Given the description of an element on the screen output the (x, y) to click on. 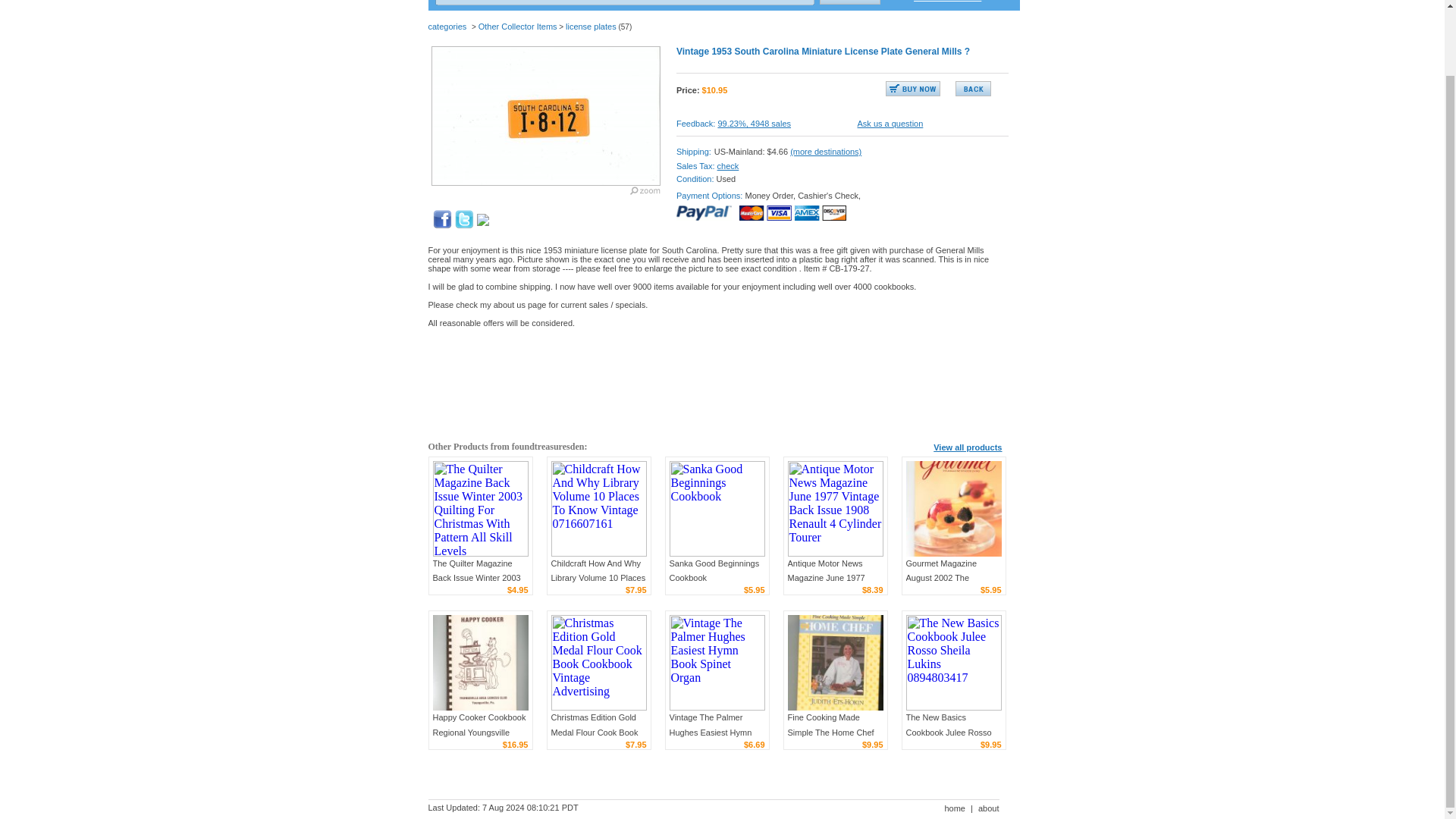
advanced search (947, 0)
Sanka Good Beginnings Cookbook (716, 508)
Sanka Good Beginnings Cookbook (713, 570)
The New Basics Cookbook Julee Rosso Sheila Lukins 0894803417 (948, 738)
license plates (590, 26)
Vintage The Palmer Hughes Easiest Hymn Book Spinet Organ (709, 731)
Gourmet Magazine August 2002 The Magazine Of Good Living (951, 577)
